Given the description of an element on the screen output the (x, y) to click on. 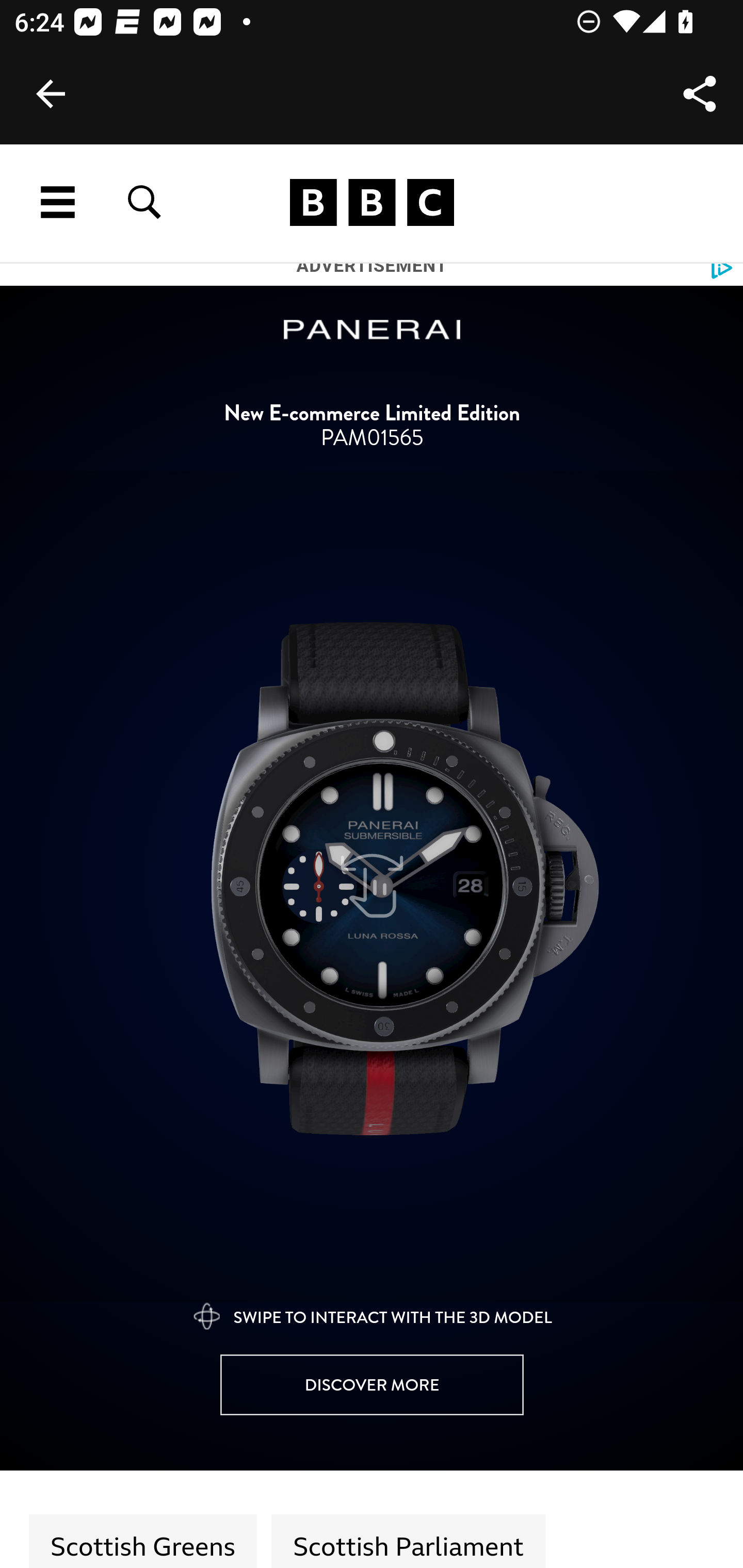
Back (50, 93)
Share (699, 93)
www.bbc (371, 203)
DISCOVER MORE (371, 1386)
Scottish Greens (142, 1541)
Scottish Parliament (408, 1541)
